Given the description of an element on the screen output the (x, y) to click on. 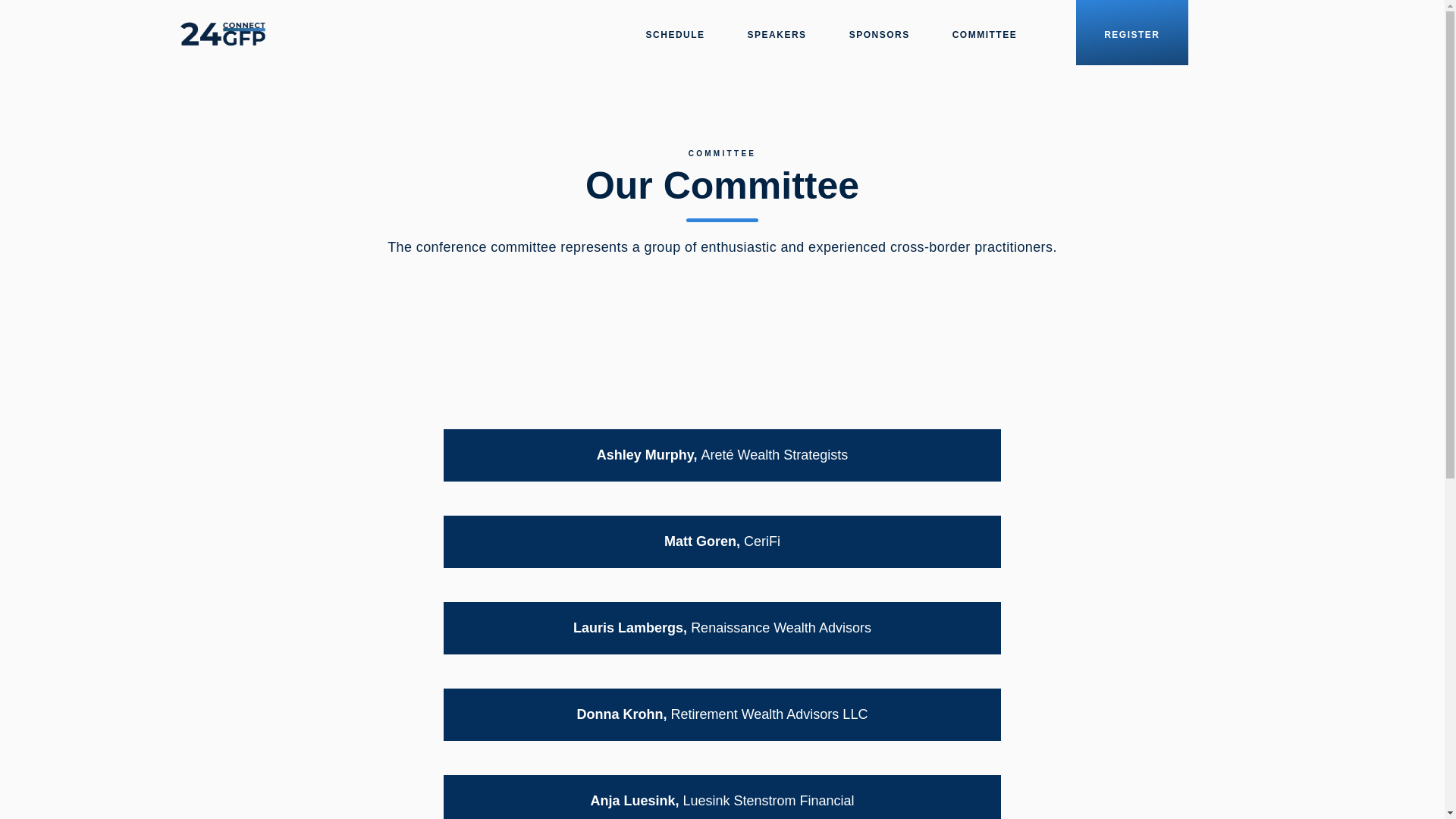
COMMITTEE (985, 32)
REGISTER (1131, 32)
SPEAKERS (777, 32)
SCHEDULE (675, 32)
SPONSORS (879, 32)
